Given the description of an element on the screen output the (x, y) to click on. 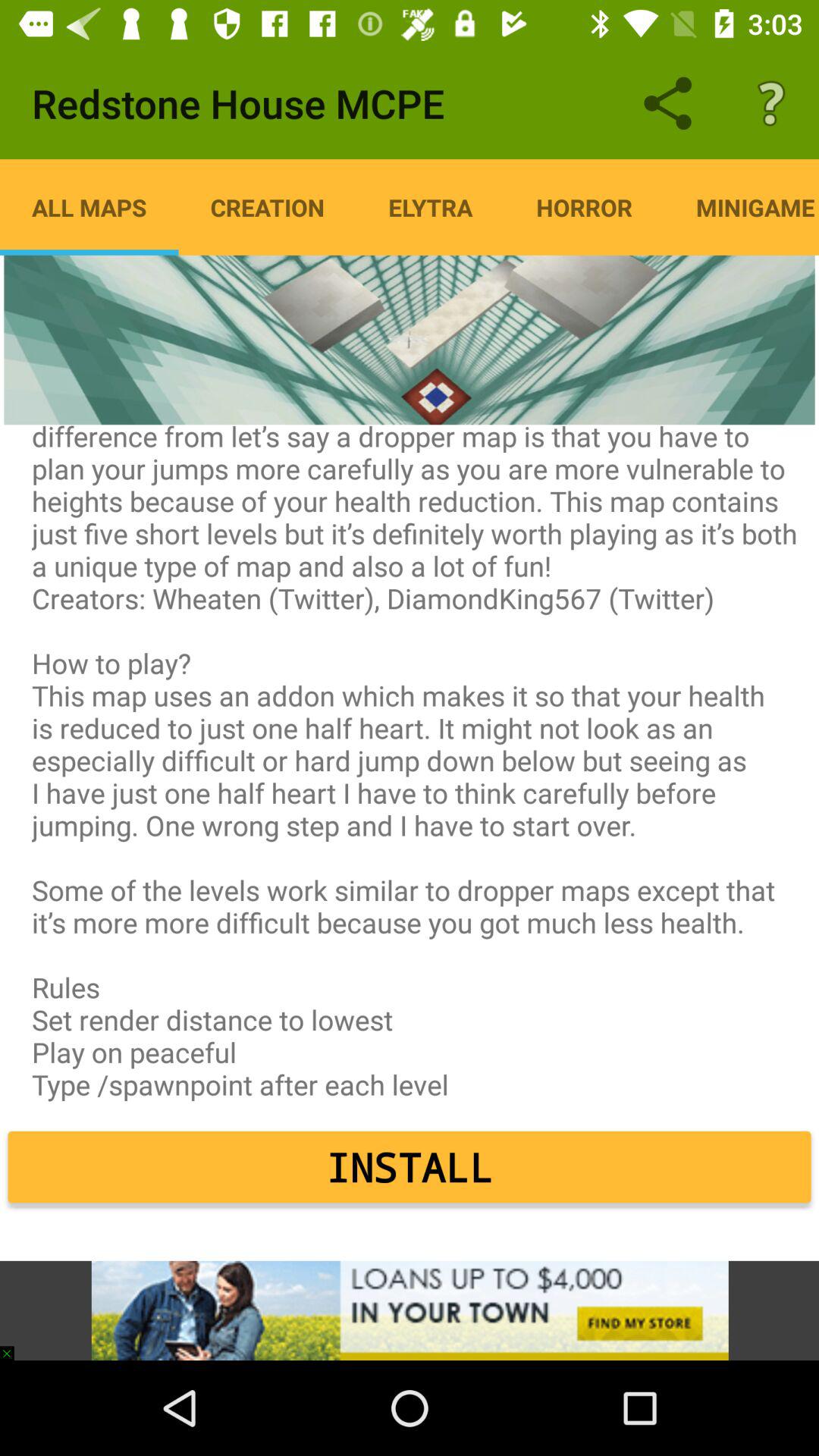
click icon at the bottom left corner (14, 1346)
